Given the description of an element on the screen output the (x, y) to click on. 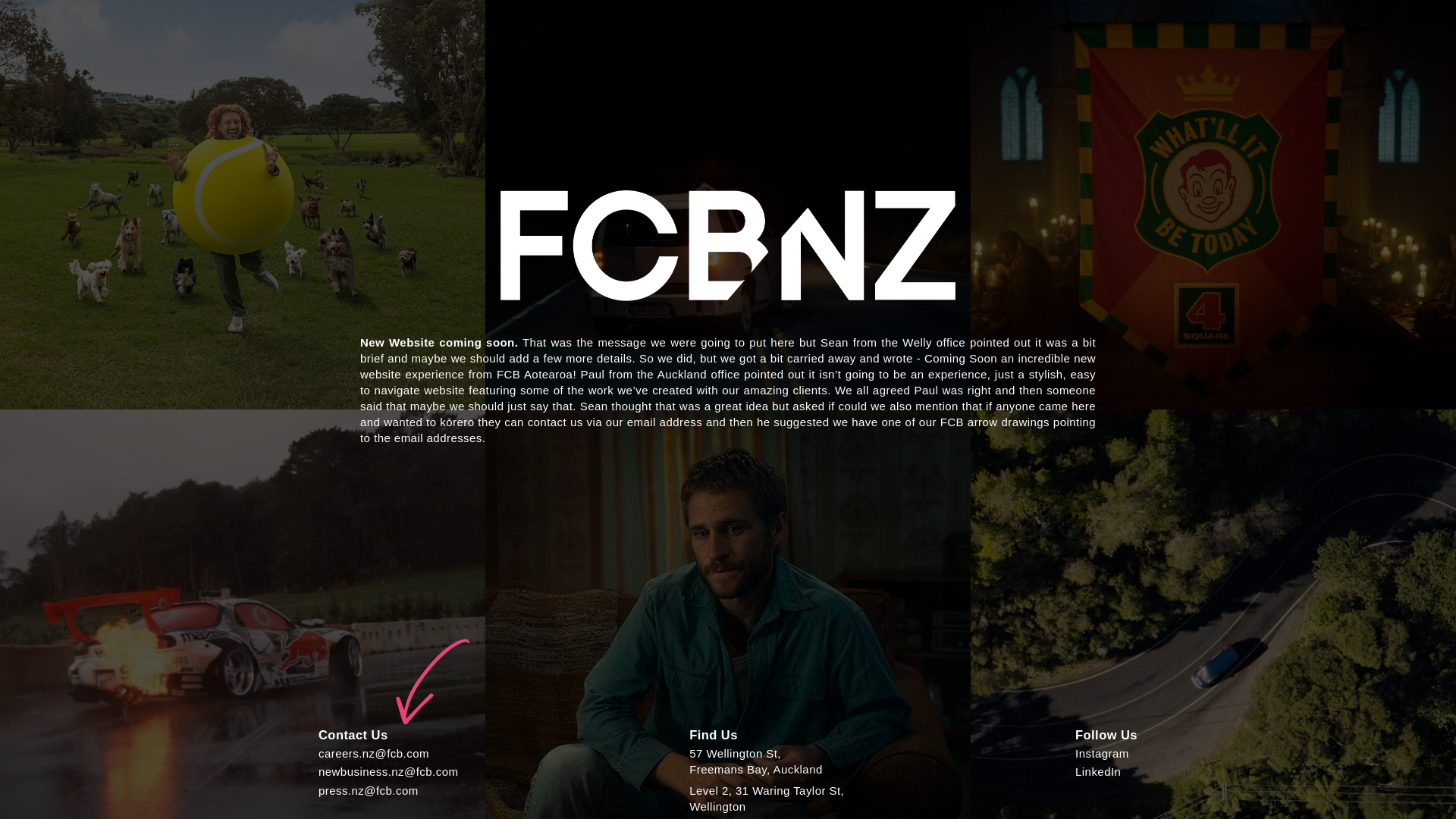
Instagram (755, 761)
LinkedIn (1102, 753)
